Given the description of an element on the screen output the (x, y) to click on. 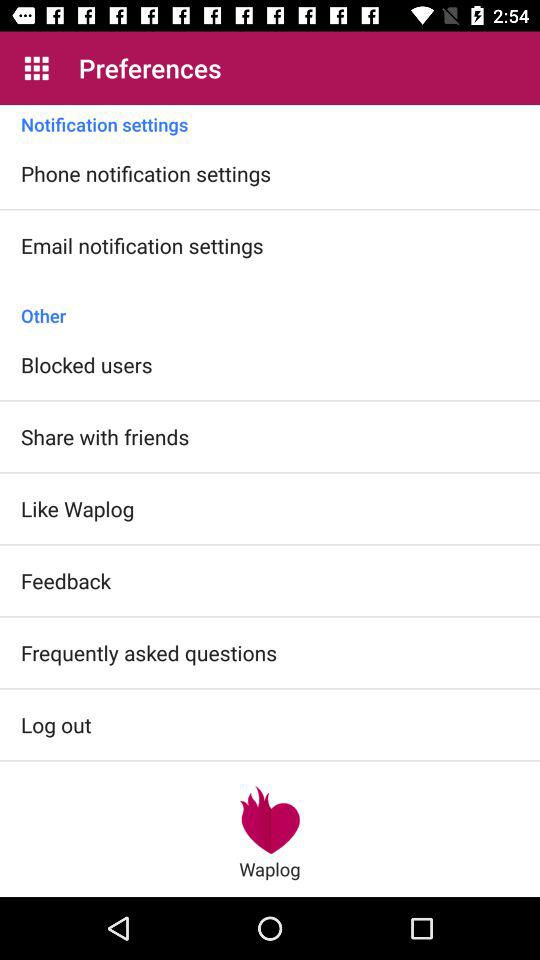
tap icon below the share with friends (77, 508)
